Given the description of an element on the screen output the (x, y) to click on. 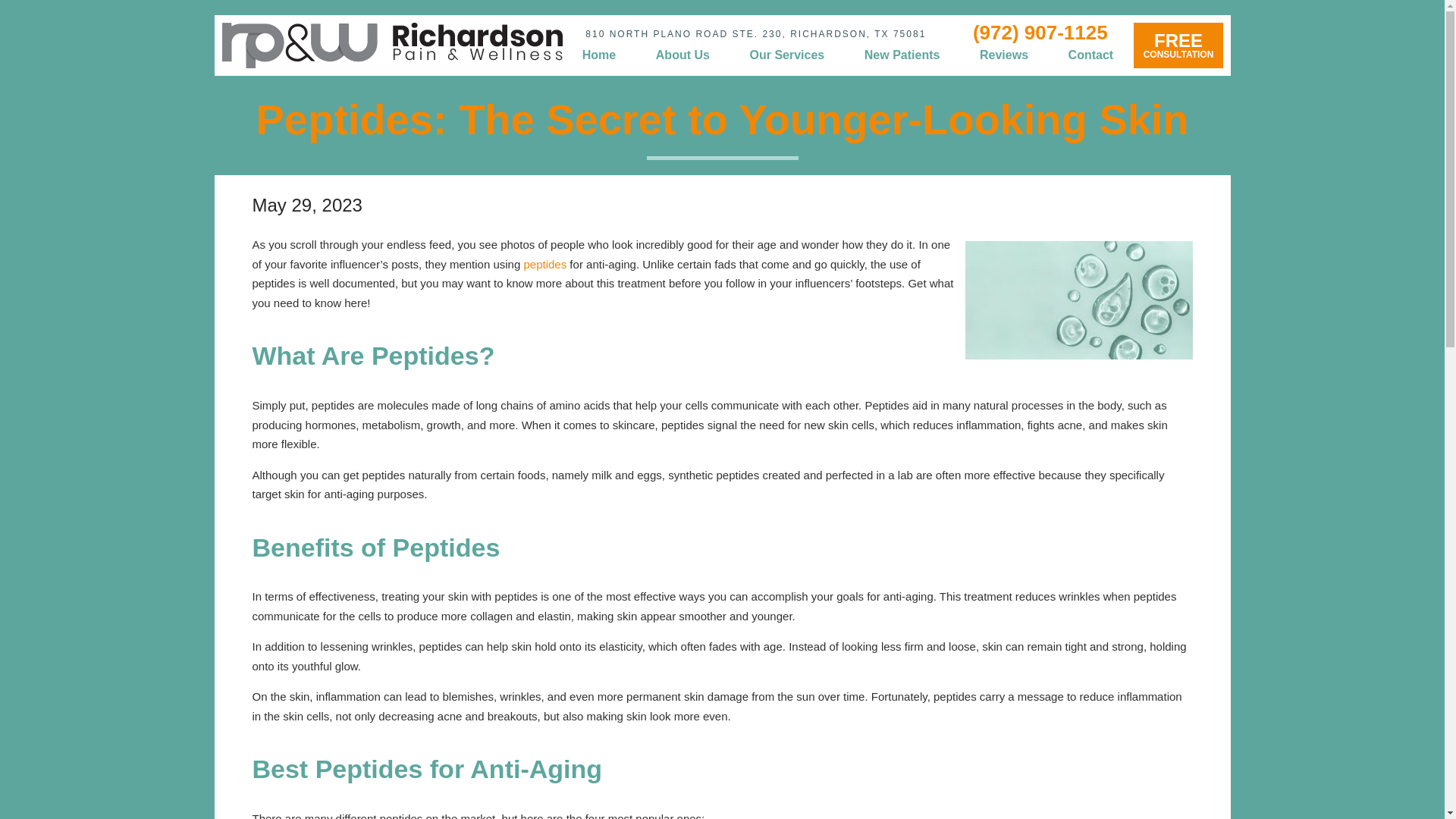
Our Services (786, 54)
Home (1177, 44)
New Patients (599, 54)
Contact (902, 54)
Reviews (1091, 54)
Peptides: The Secret to Younger-Looking Skin (1003, 54)
About Us (722, 119)
810 NORTH PLANO ROAD STE. 230, RICHARDSON, TX 75081 (682, 54)
